Given the description of an element on the screen output the (x, y) to click on. 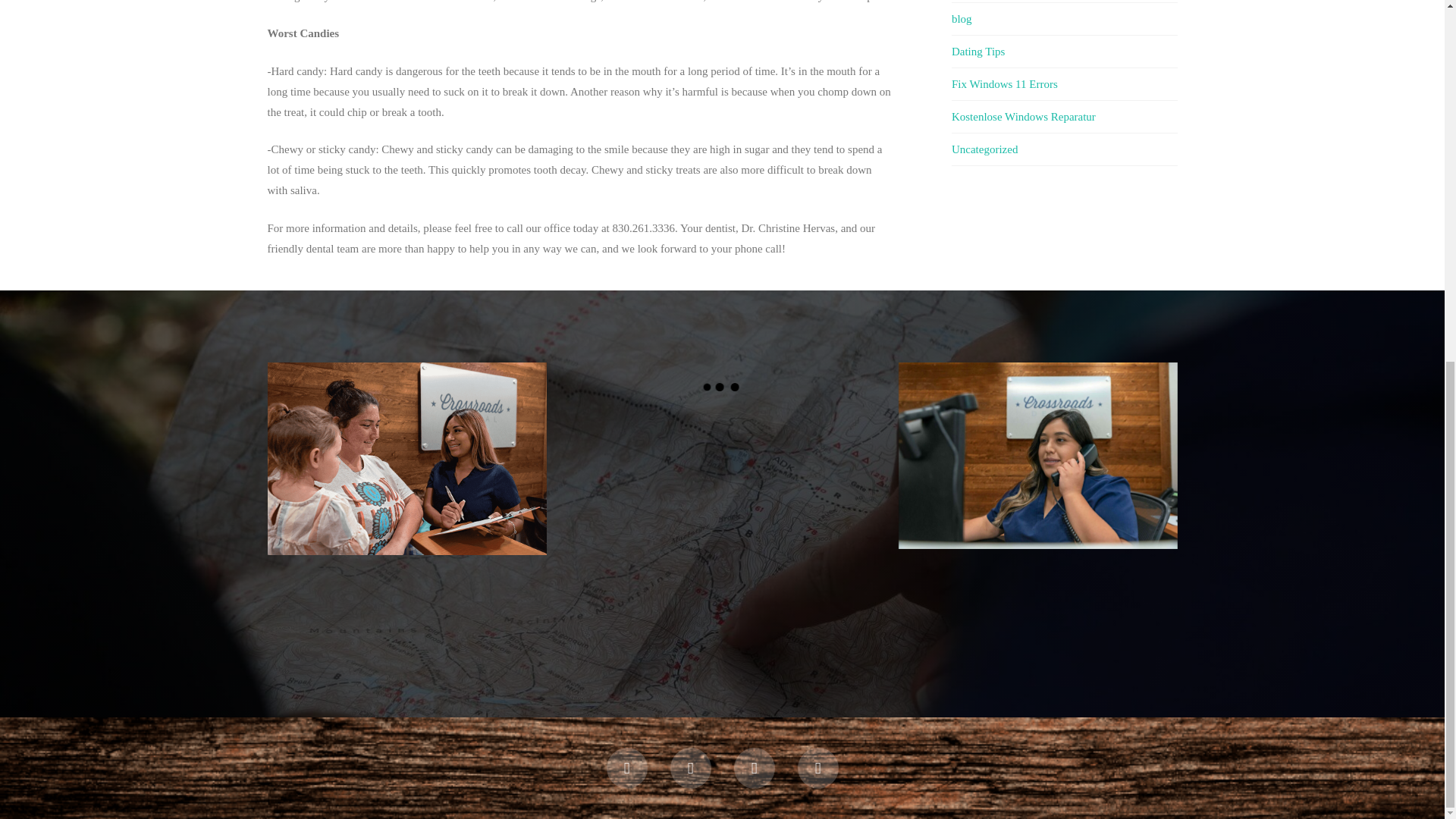
2 kids smiling in front of Crossroads Dental Sign (816, 443)
Front office Team Smiling in front of Crossroads Dental sign (816, 515)
2 kids smiling in Crossroads Dental Treatment room in Luling (722, 515)
2 kids smiling in Crossroads Dental Treatment room in Luling (722, 525)
Front office Team Smiling in front of Crossroads Dental sign (816, 525)
2 kids smiling in front of Crossroads Dental Sign (816, 453)
